Given the description of an element on the screen output the (x, y) to click on. 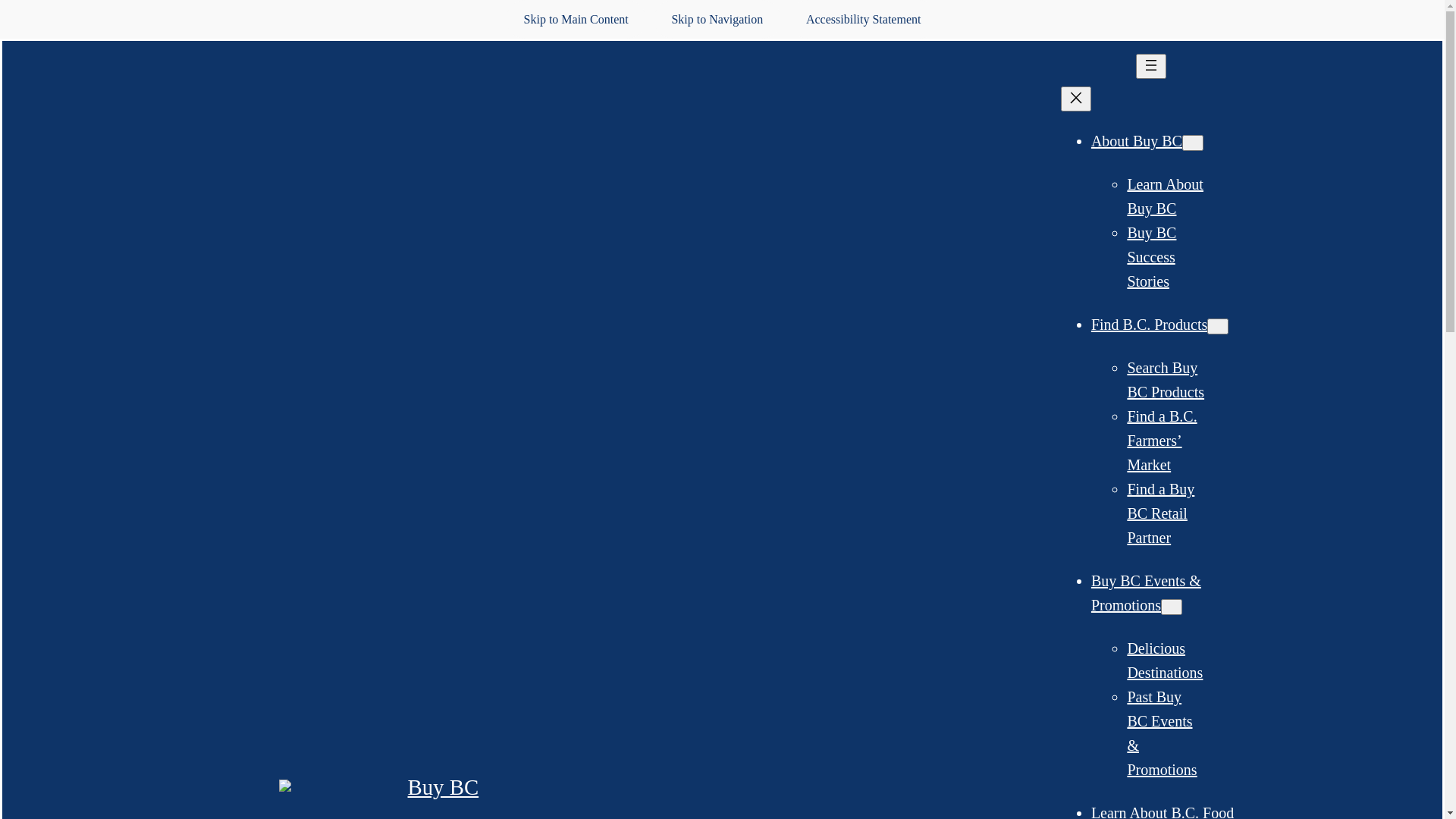
Accessibility Statement Element type: text (863, 19)
Skip to Navigation Element type: text (717, 19)
Learn About Buy BC Element type: text (1164, 195)
Past Buy BC Events & Promotions Element type: text (1161, 733)
About Buy BC Element type: text (1136, 140)
Buy BC Events & Promotions Element type: text (1146, 592)
Skip to Main Content Element type: text (575, 19)
Buy BC Element type: text (443, 787)
Find B.C. Products Element type: text (1149, 324)
Delicious Destinations Element type: text (1164, 660)
Search Buy BC Products Element type: text (1165, 379)
Find a Buy BC Retail Partner Element type: text (1160, 513)
Buy BC Success Stories Element type: text (1151, 256)
